Given the description of an element on the screen output the (x, y) to click on. 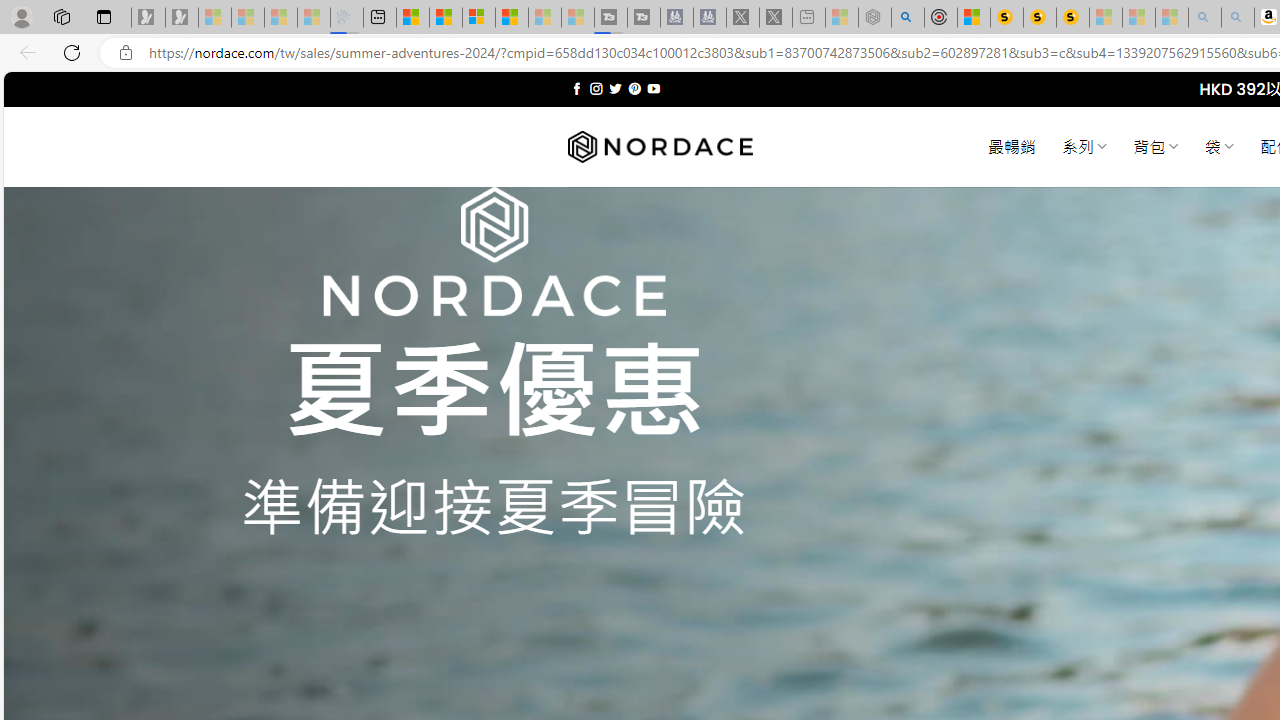
Workspaces (61, 16)
Michelle Starr, Senior Journalist at ScienceAlert (1073, 17)
Follow on YouTube (653, 88)
